Given the description of an element on the screen output the (x, y) to click on. 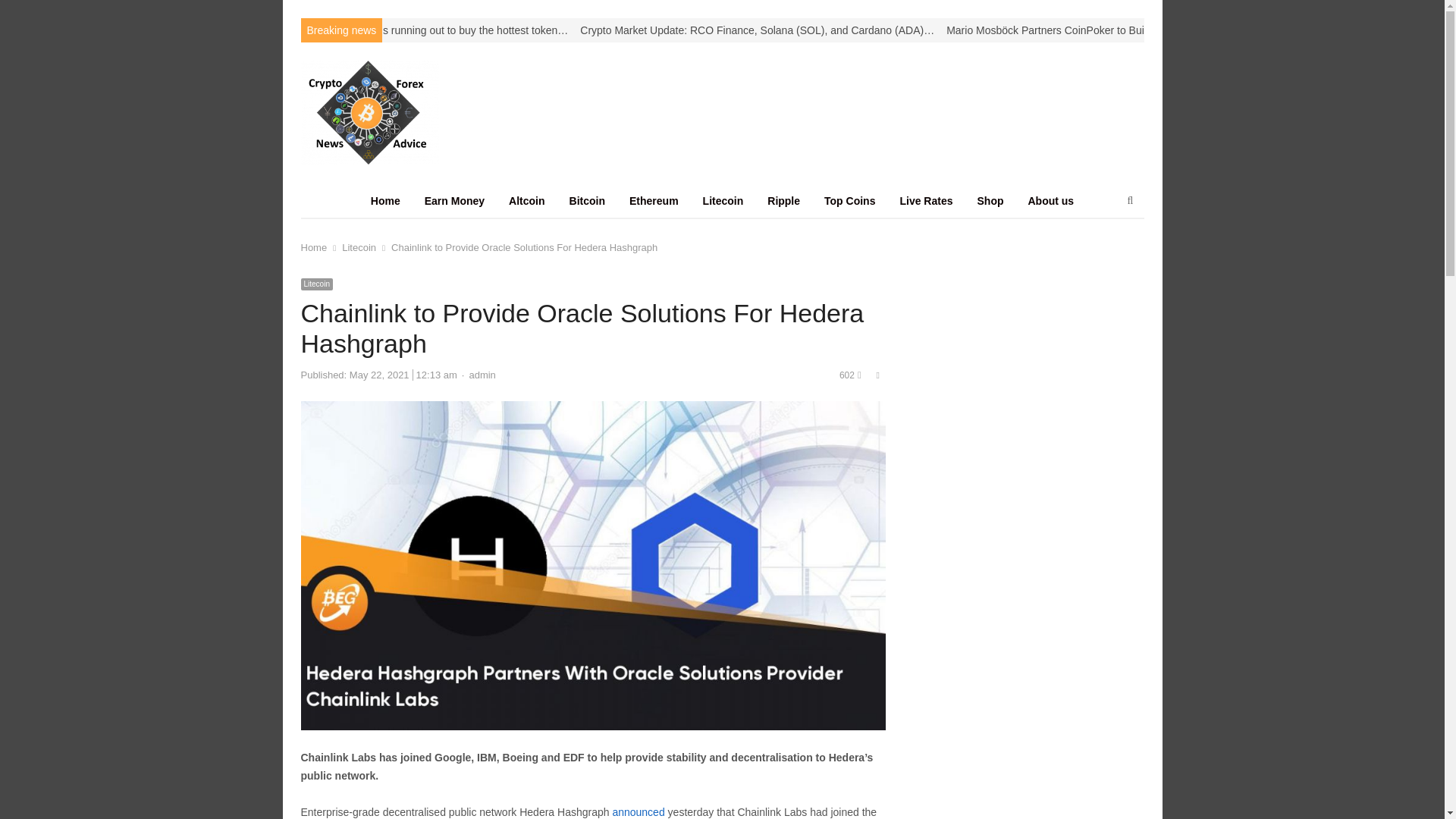
Cryptodebot (398, 112)
Earn Money (454, 200)
Live Rates (924, 200)
Shop (988, 200)
Share this post (877, 375)
Open search panel (1129, 200)
Altcoin (526, 200)
About us (1051, 200)
Search (27, 13)
Ethereum (653, 200)
